Given the description of an element on the screen output the (x, y) to click on. 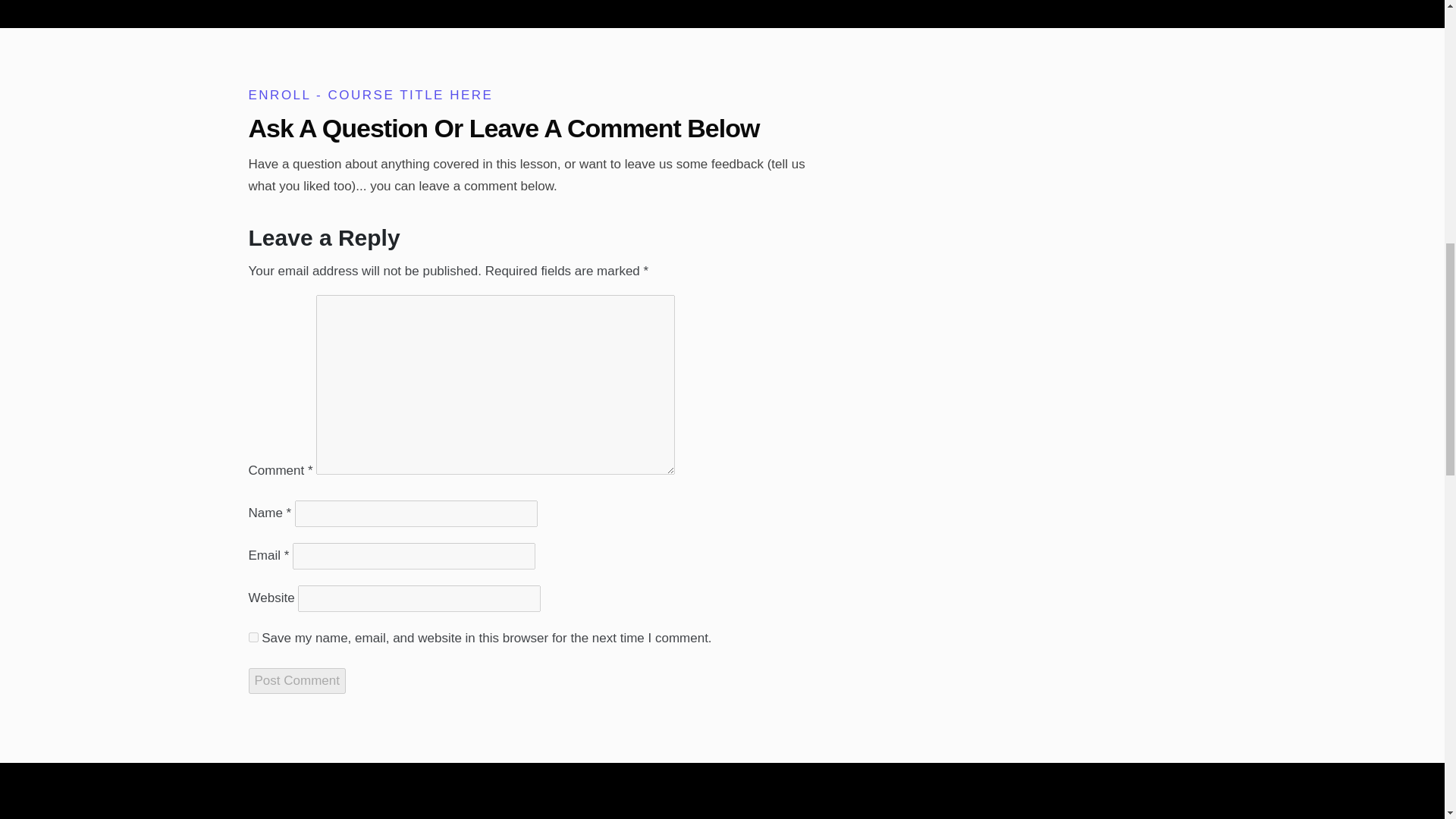
yes (253, 637)
Post Comment (297, 680)
Post Comment (297, 680)
